Given the description of an element on the screen output the (x, y) to click on. 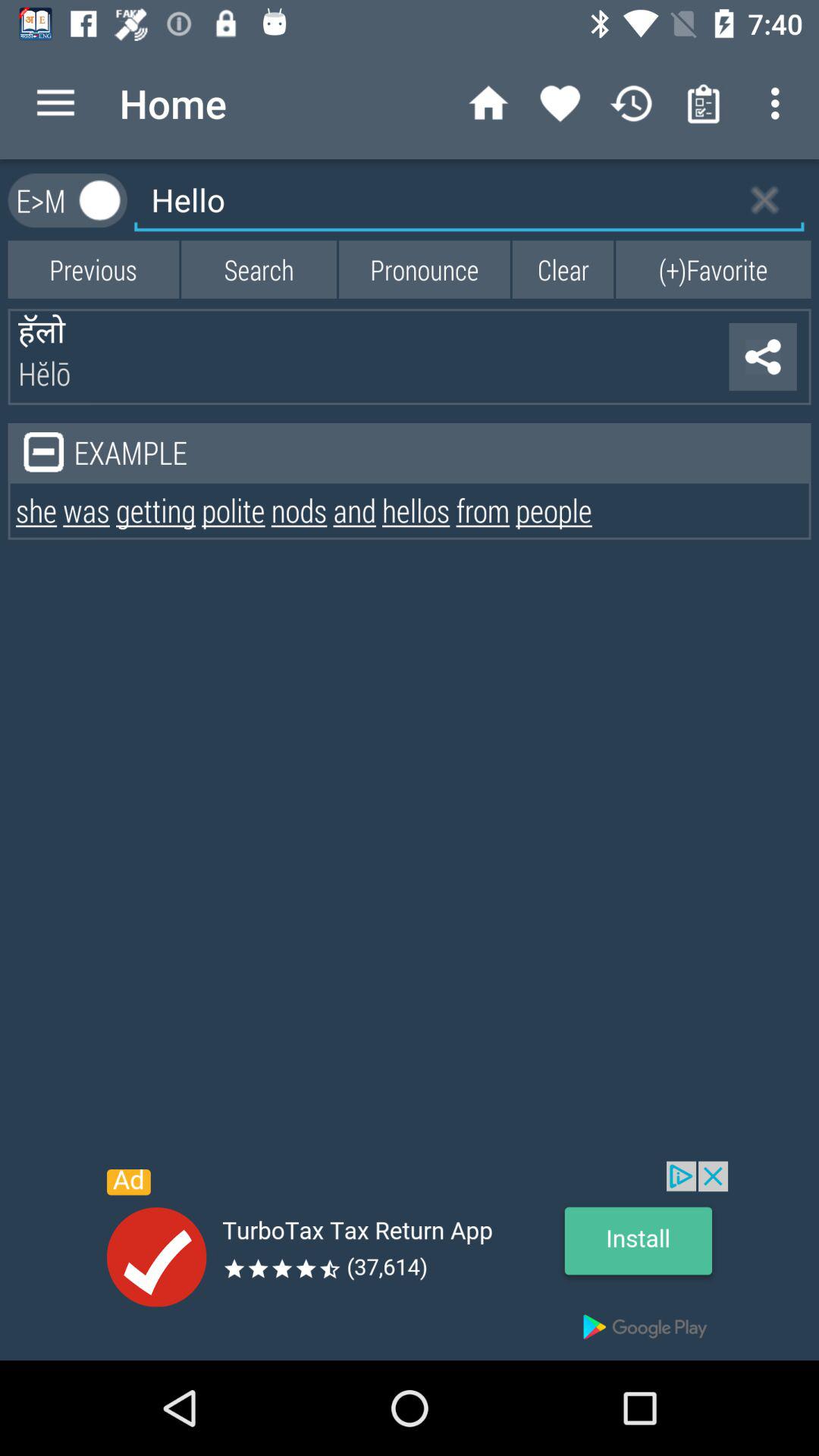
show textbox options (100, 200)
